Given the description of an element on the screen output the (x, y) to click on. 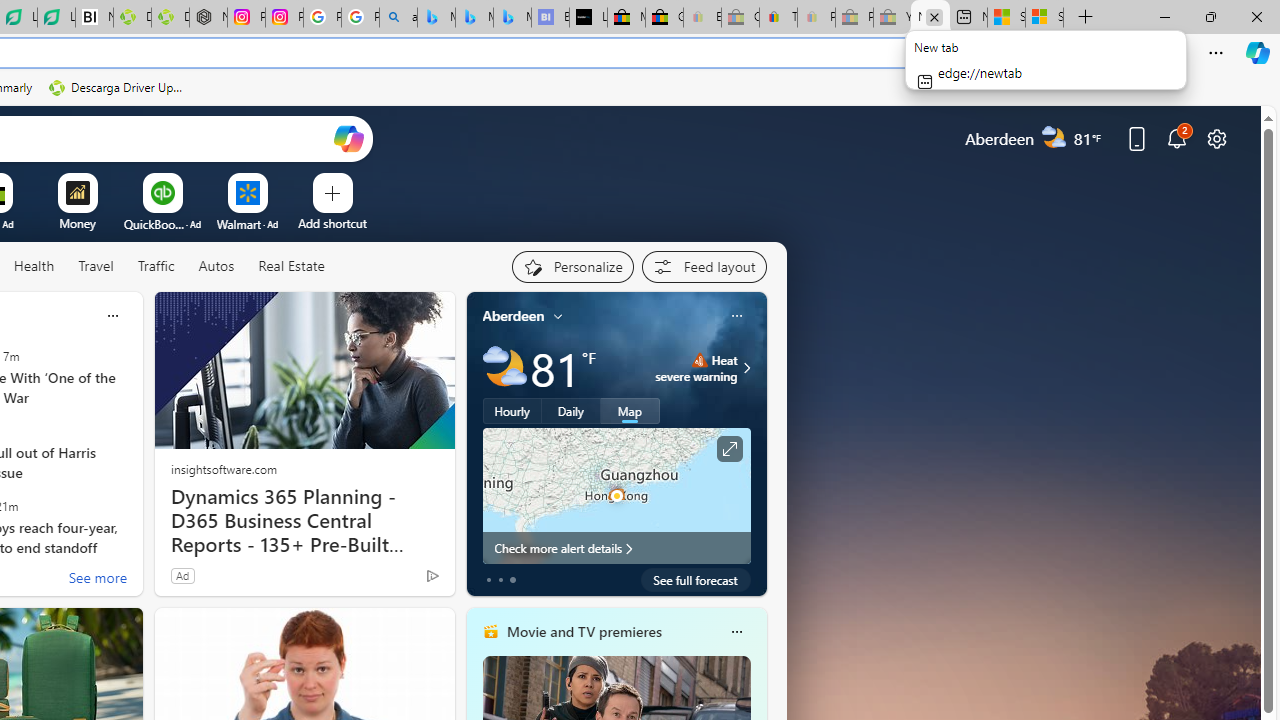
Class: icon-img (736, 632)
Heat - Severe (699, 359)
tab-0 (488, 579)
Payments Terms of Use | eBay.com - Sleeping (815, 17)
Aberdeen (513, 315)
Health (33, 267)
Hourly (511, 411)
